Given the description of an element on the screen output the (x, y) to click on. 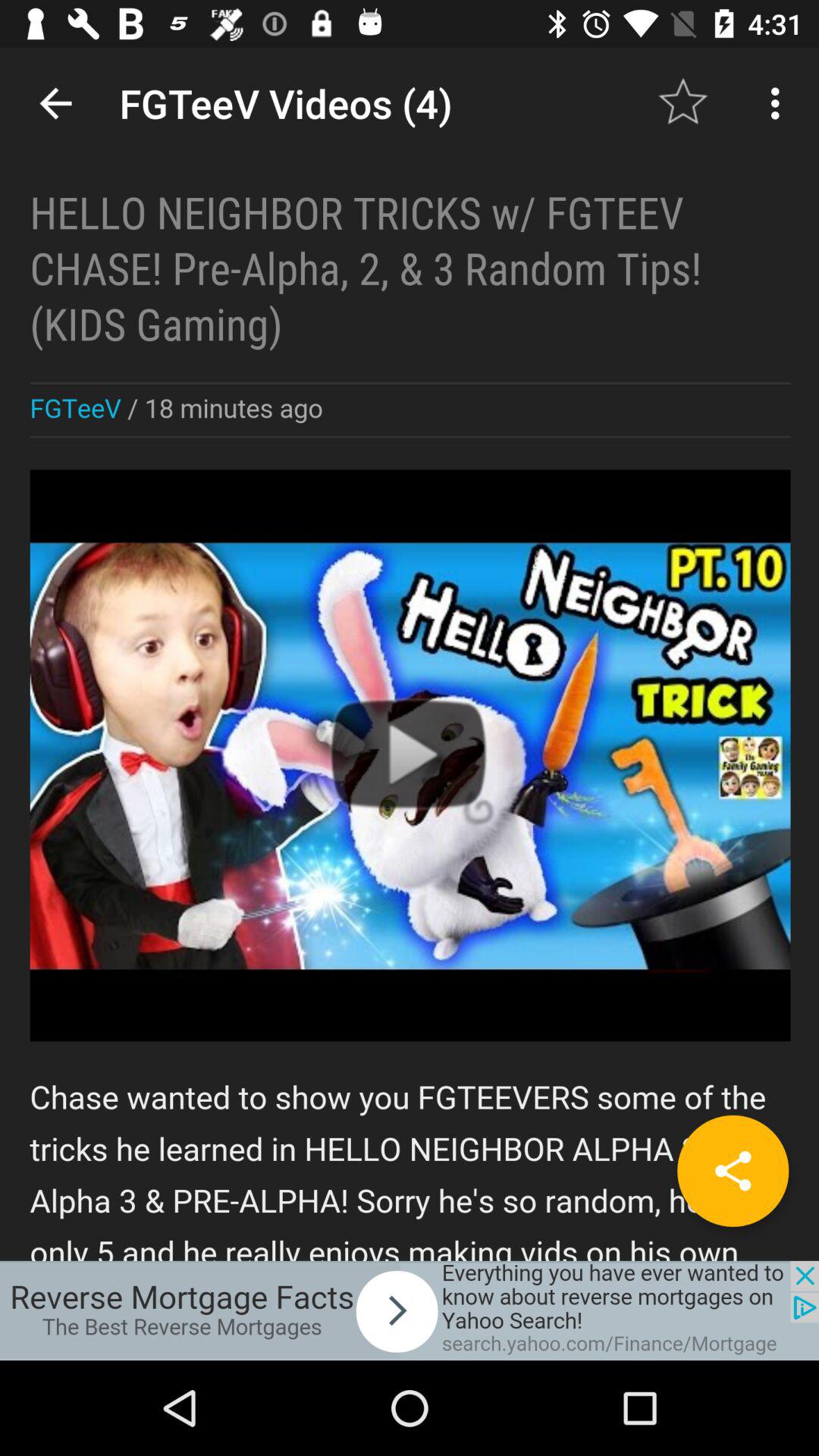
principal screen (409, 653)
